Given the description of an element on the screen output the (x, y) to click on. 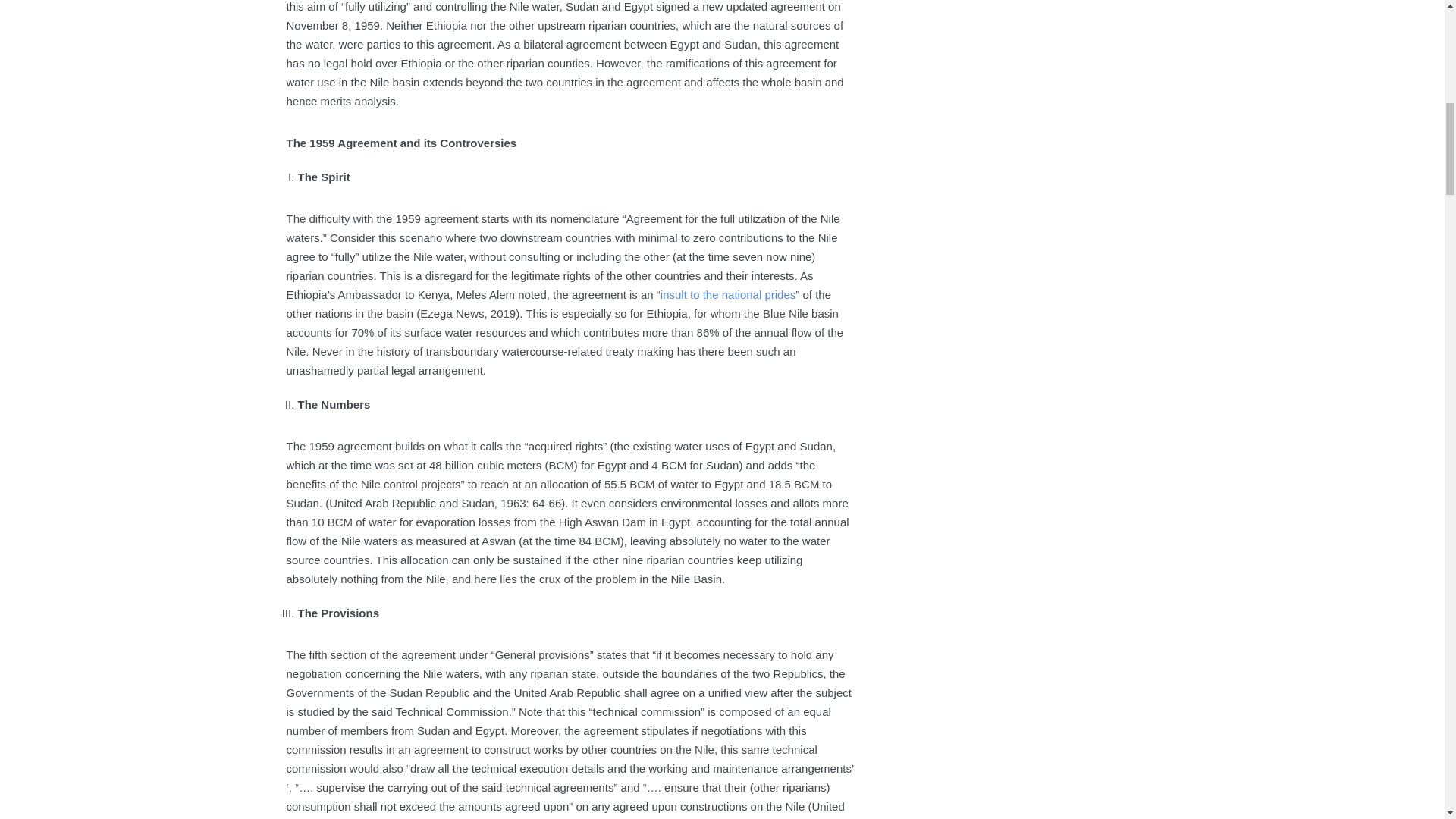
insult to the national prides (727, 294)
